Given the description of an element on the screen output the (x, y) to click on. 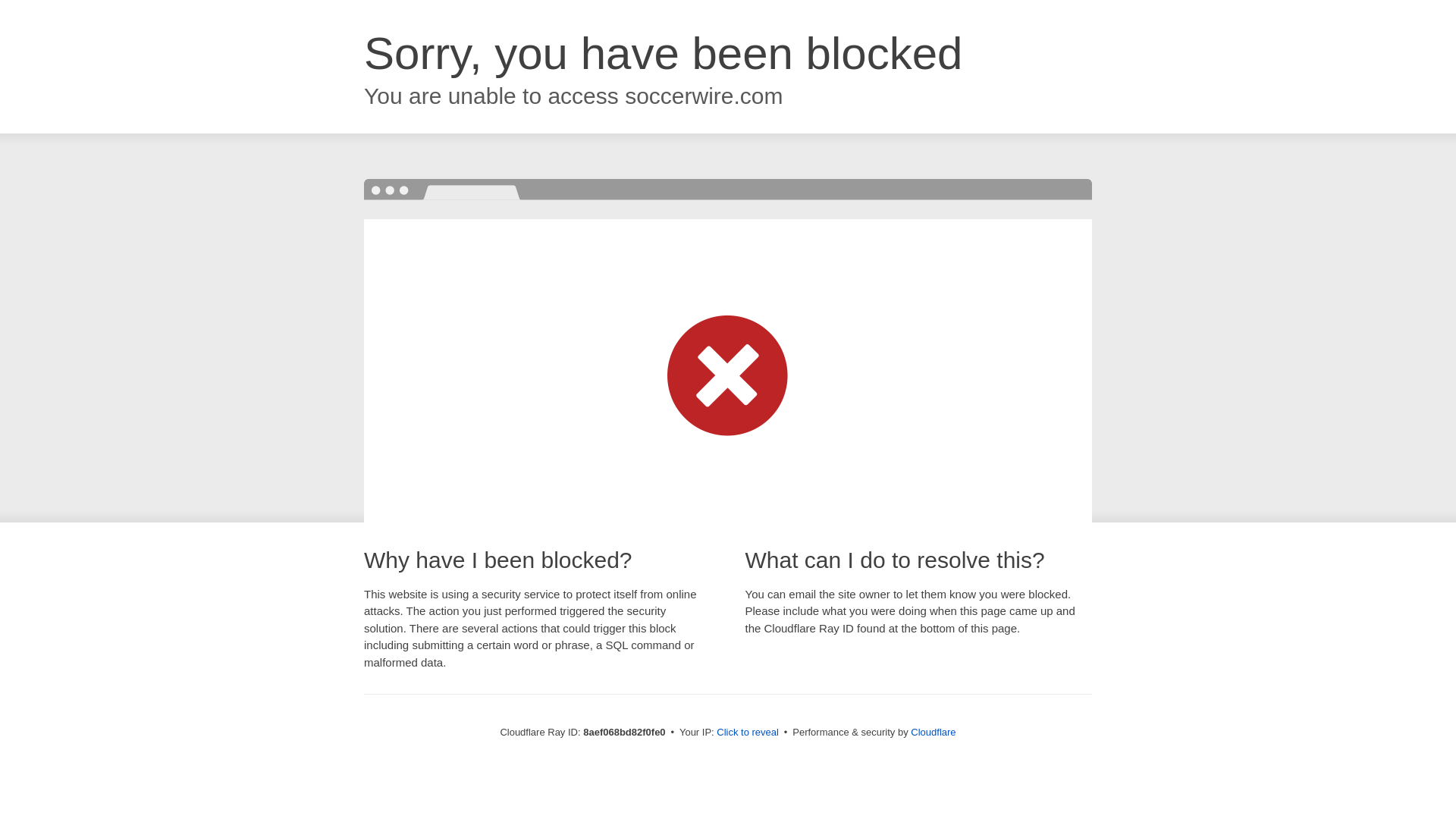
Cloudflare (933, 731)
Click to reveal (747, 732)
